Given the description of an element on the screen output the (x, y) to click on. 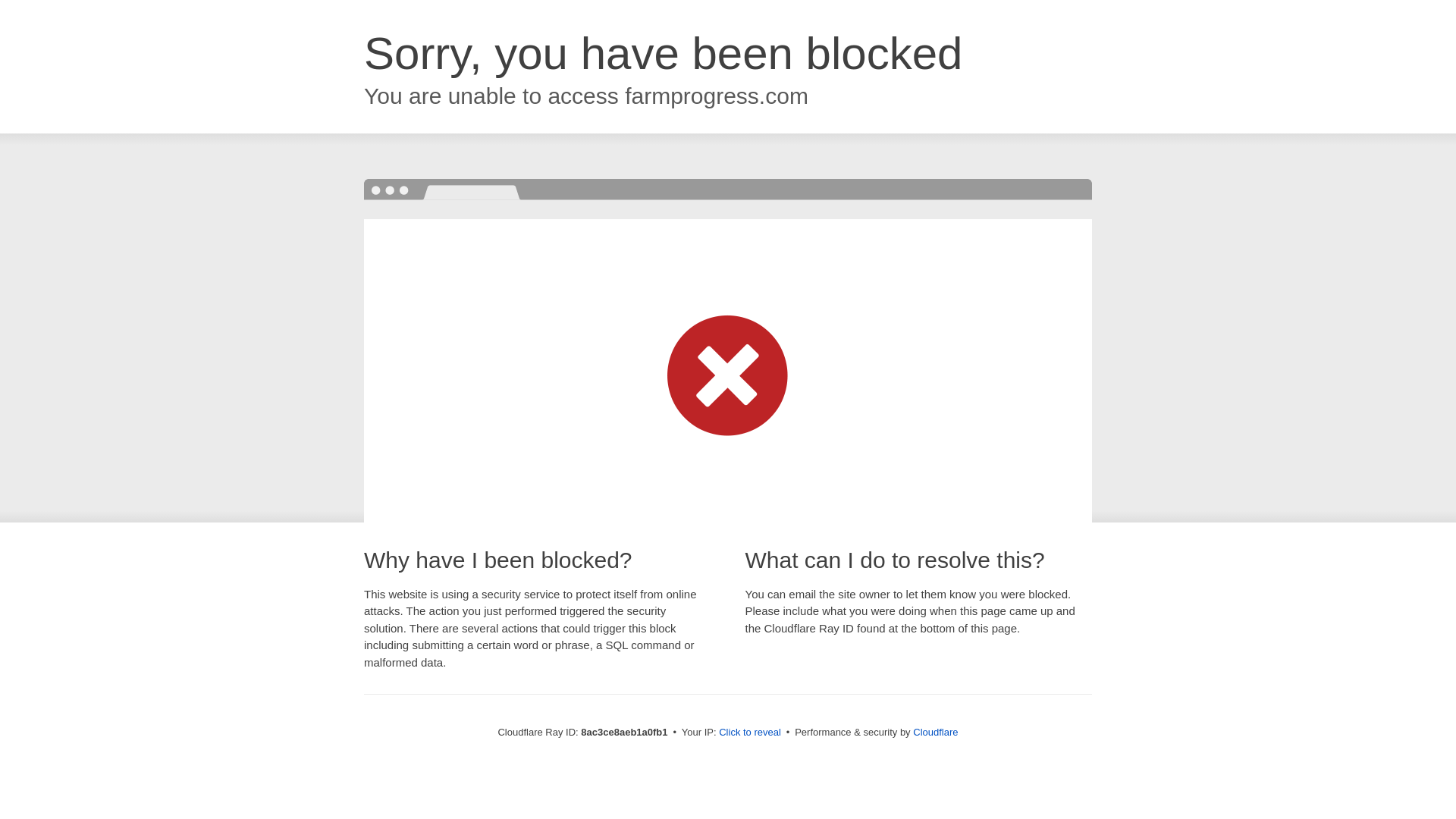
Click to reveal (749, 732)
Cloudflare (935, 731)
